Given the description of an element on the screen output the (x, y) to click on. 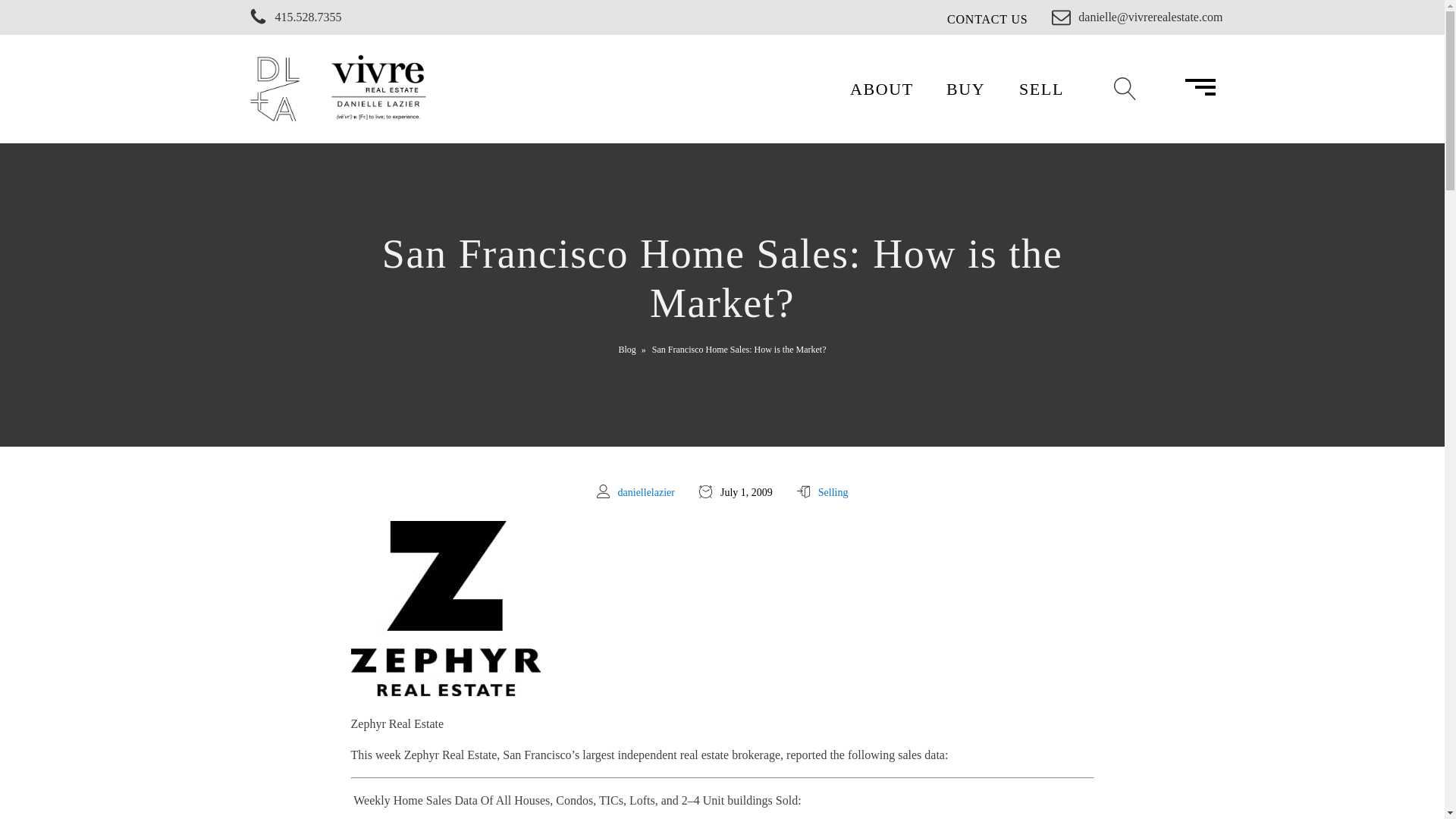
daniellelazier (646, 491)
SELL (1041, 88)
BUY (965, 88)
Breadcrumb link to Blog (627, 348)
415.528.7355 (280, 17)
Selling (833, 491)
ABOUT (882, 88)
CONTACT US (987, 19)
Blog (627, 348)
